Given the description of an element on the screen output the (x, y) to click on. 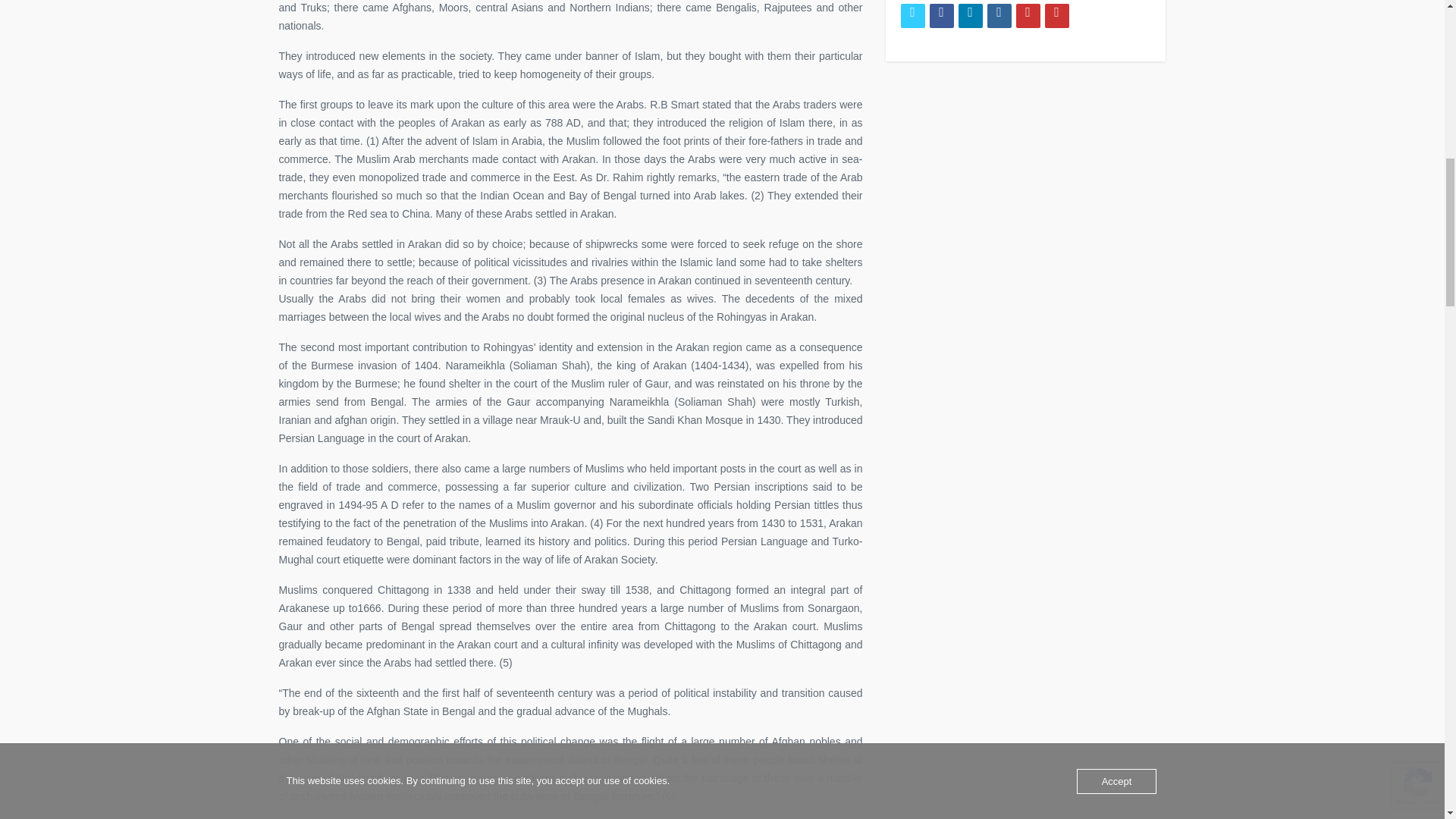
Twitter (912, 15)
